Given the description of an element on the screen output the (x, y) to click on. 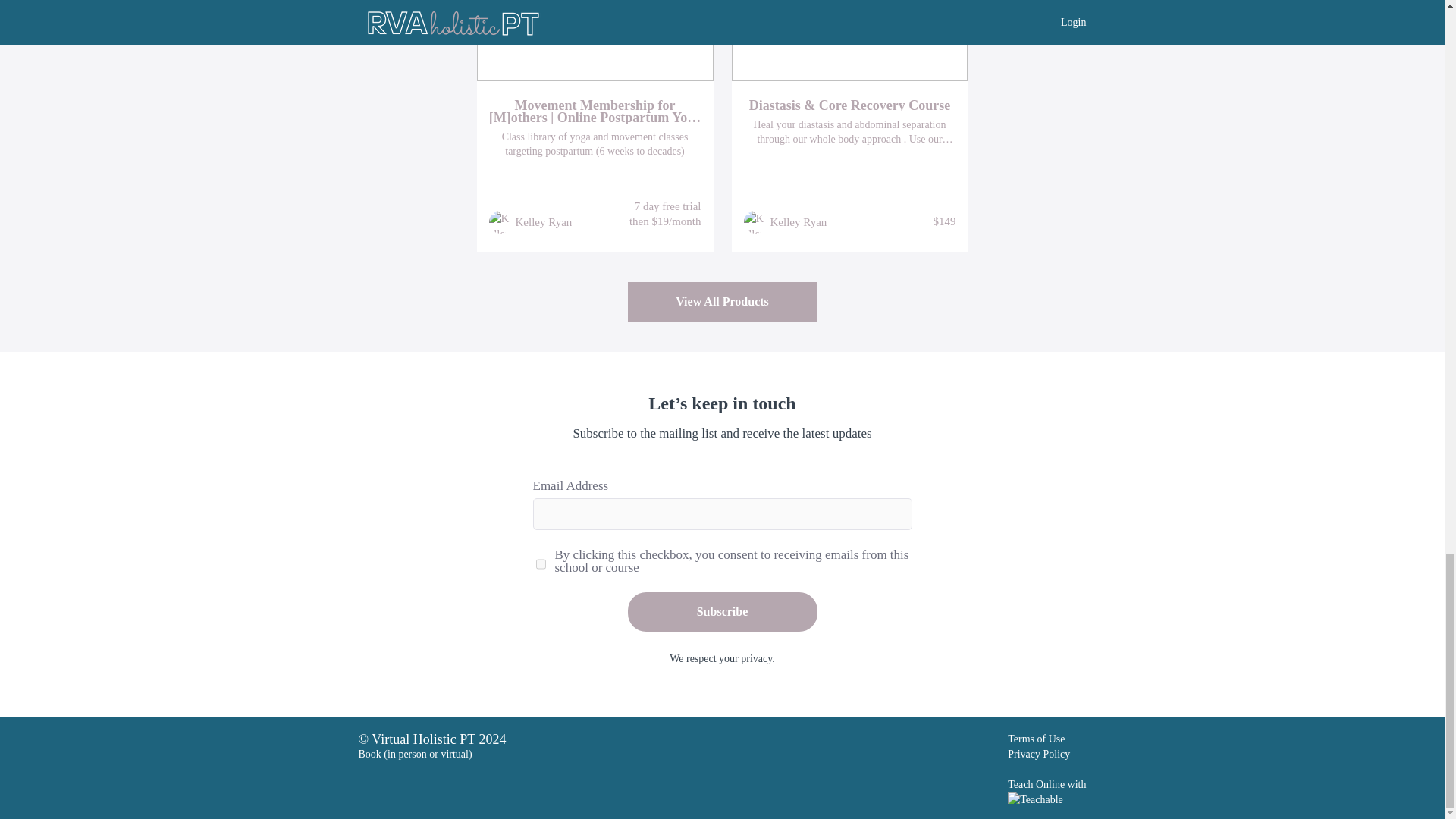
Teach Online with (1046, 790)
Terms of Use (1035, 738)
Kelley Ryan (798, 221)
Subscribe (721, 611)
Privacy Policy (1038, 754)
View All Products (721, 302)
Kelley Ryan (543, 221)
View All Products (721, 301)
